Given the description of an element on the screen output the (x, y) to click on. 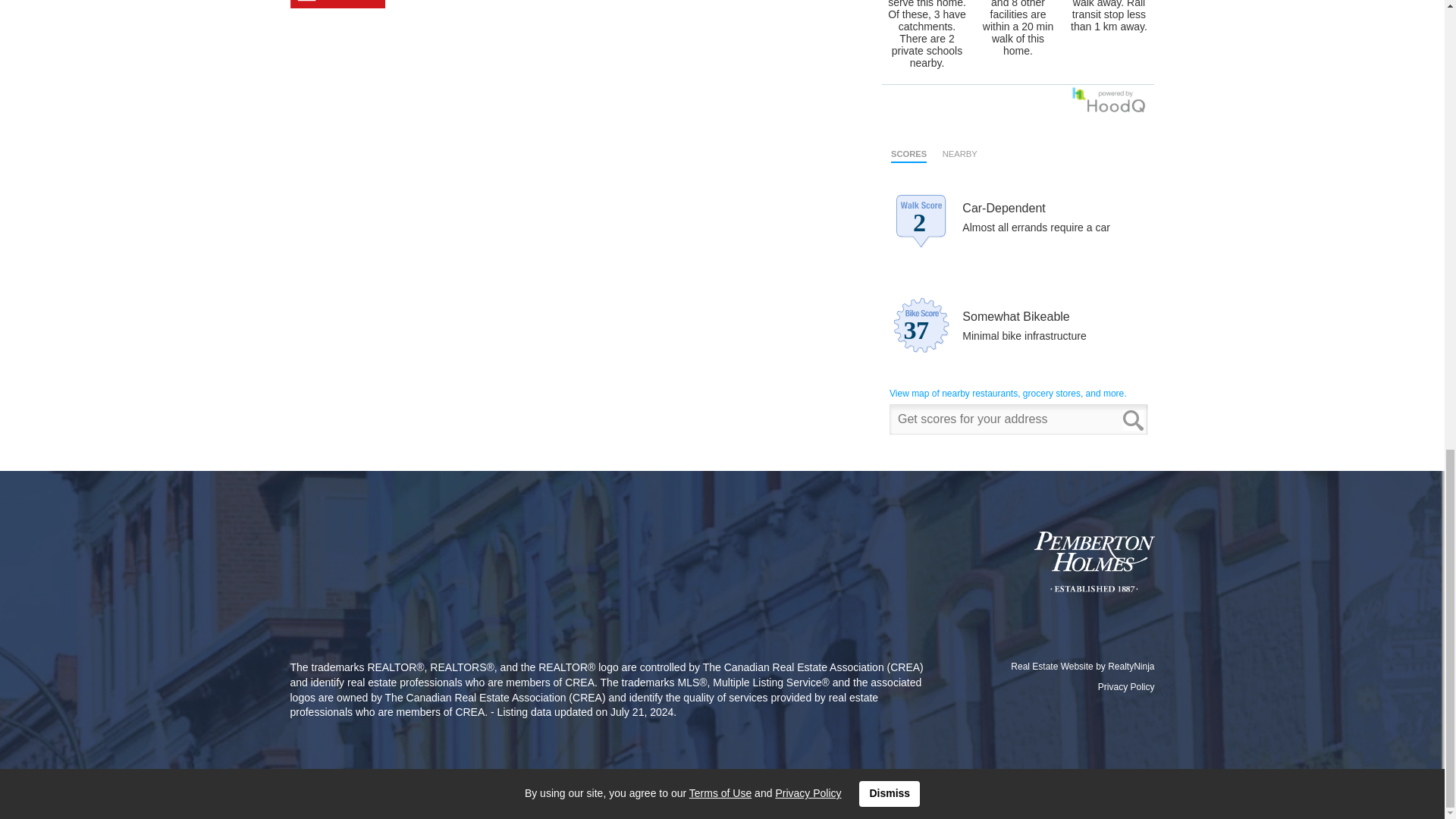
Privacy Policy (1125, 686)
Walk Score (1017, 288)
Real Estate Website by RealtyNinja (1054, 666)
